Given the description of an element on the screen output the (x, y) to click on. 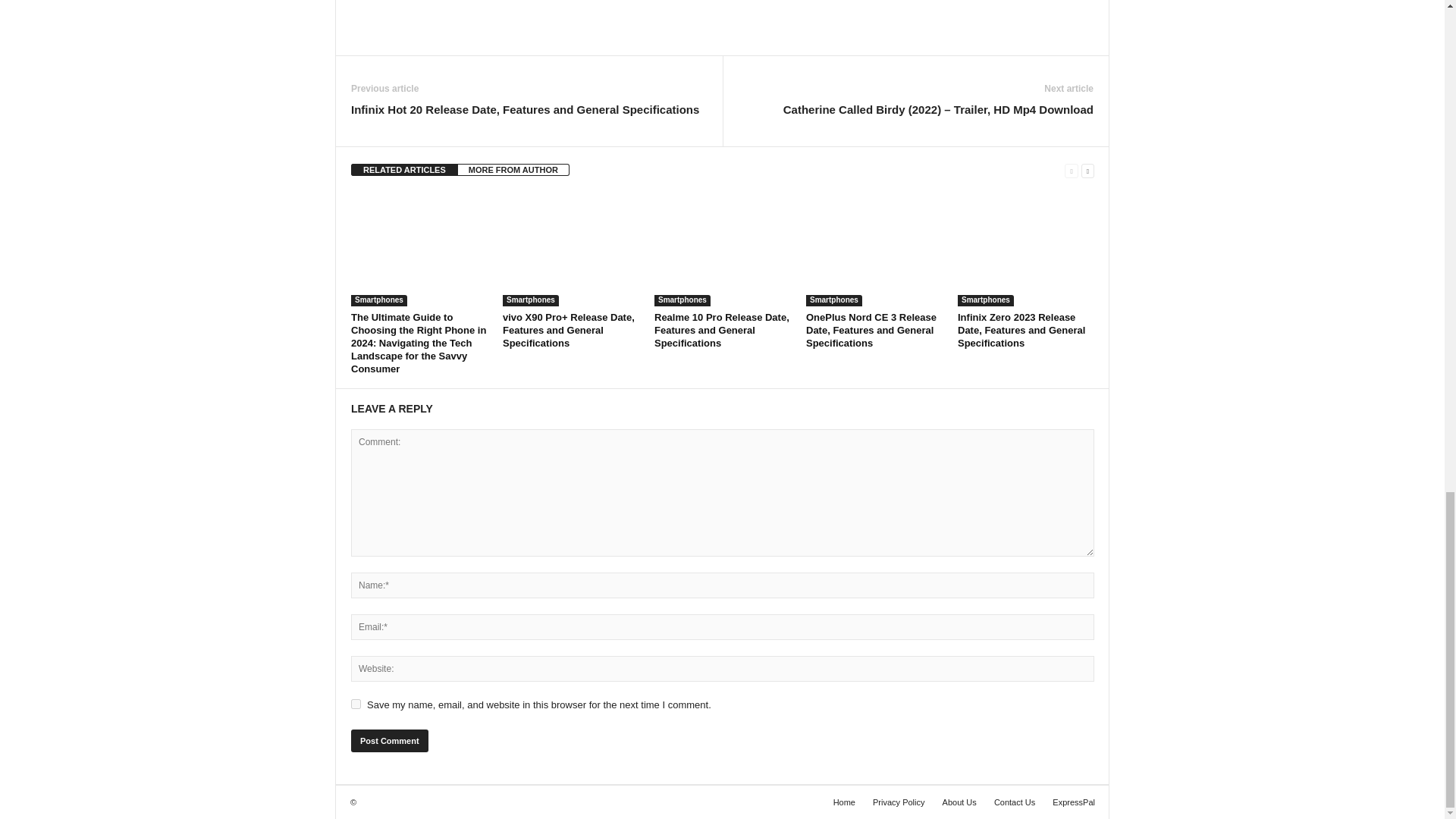
yes (355, 704)
Post Comment (389, 740)
